Given the description of an element on the screen output the (x, y) to click on. 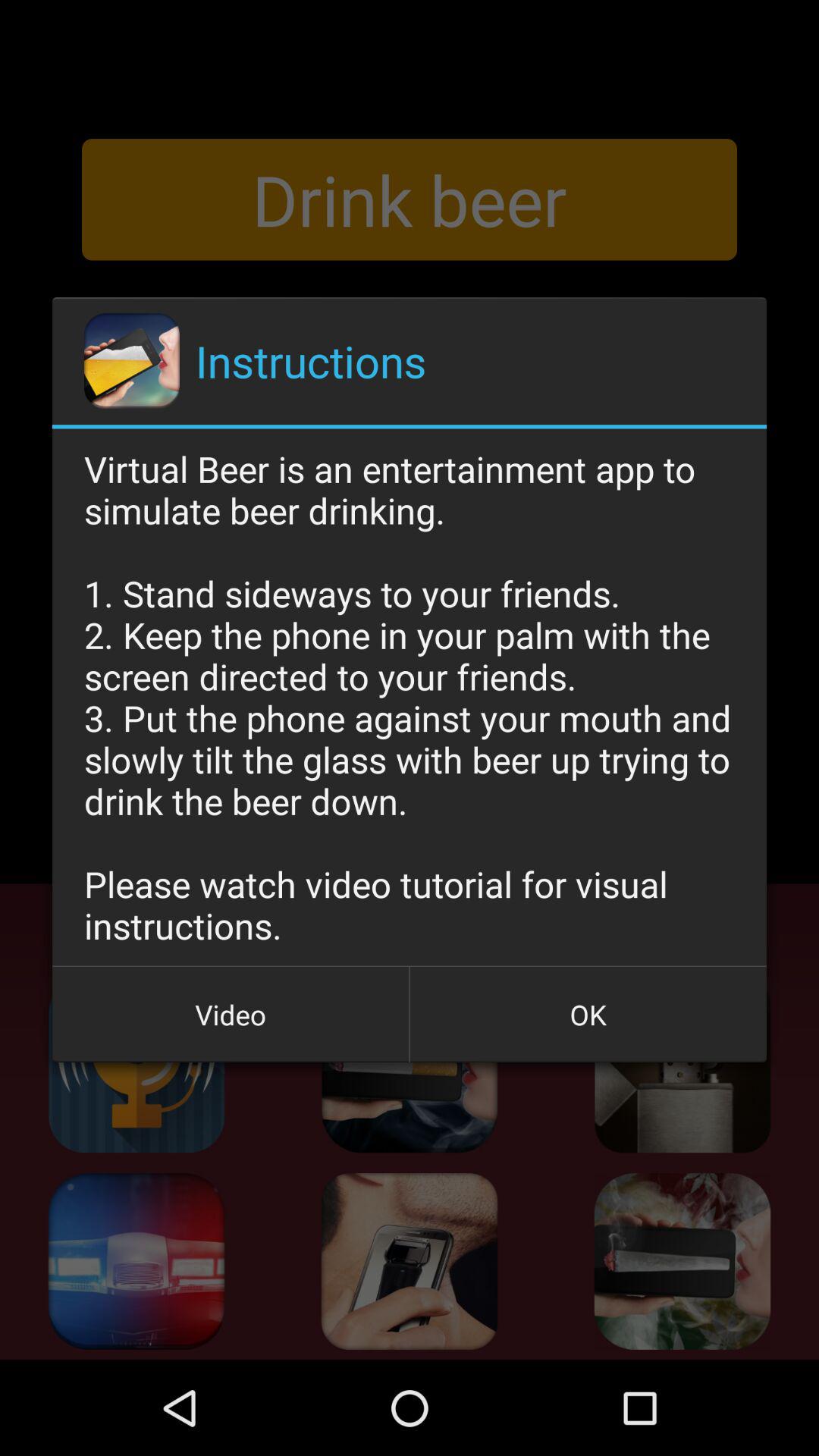
select app below virtual beer is app (230, 1014)
